Given the description of an element on the screen output the (x, y) to click on. 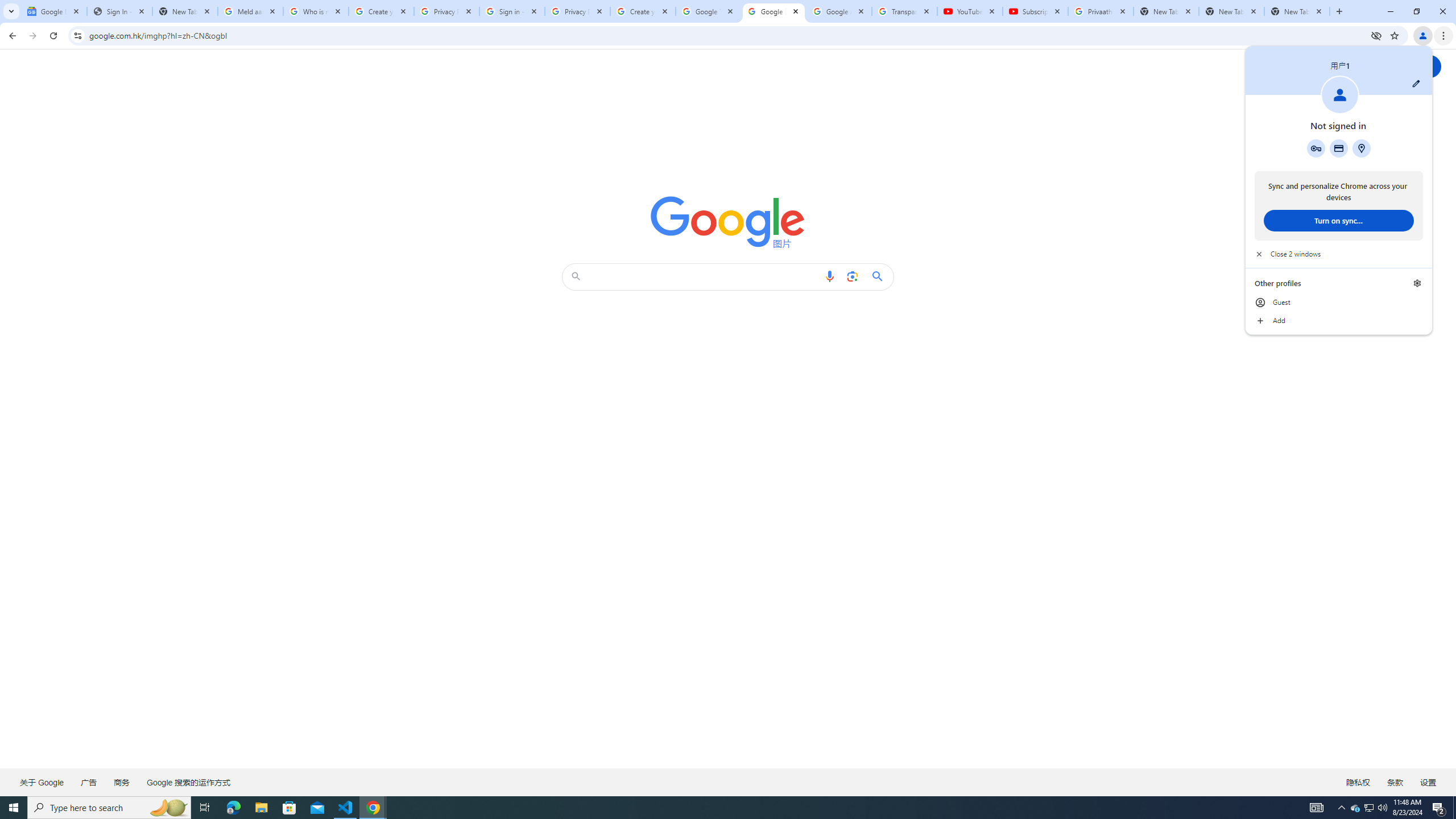
Guest (1338, 302)
Search highlights icon opens search home window (167, 807)
Microsoft Store (1368, 807)
New Tab (289, 807)
User Promoted Notification Area (1355, 807)
File Explorer (1297, 11)
